Given the description of an element on the screen output the (x, y) to click on. 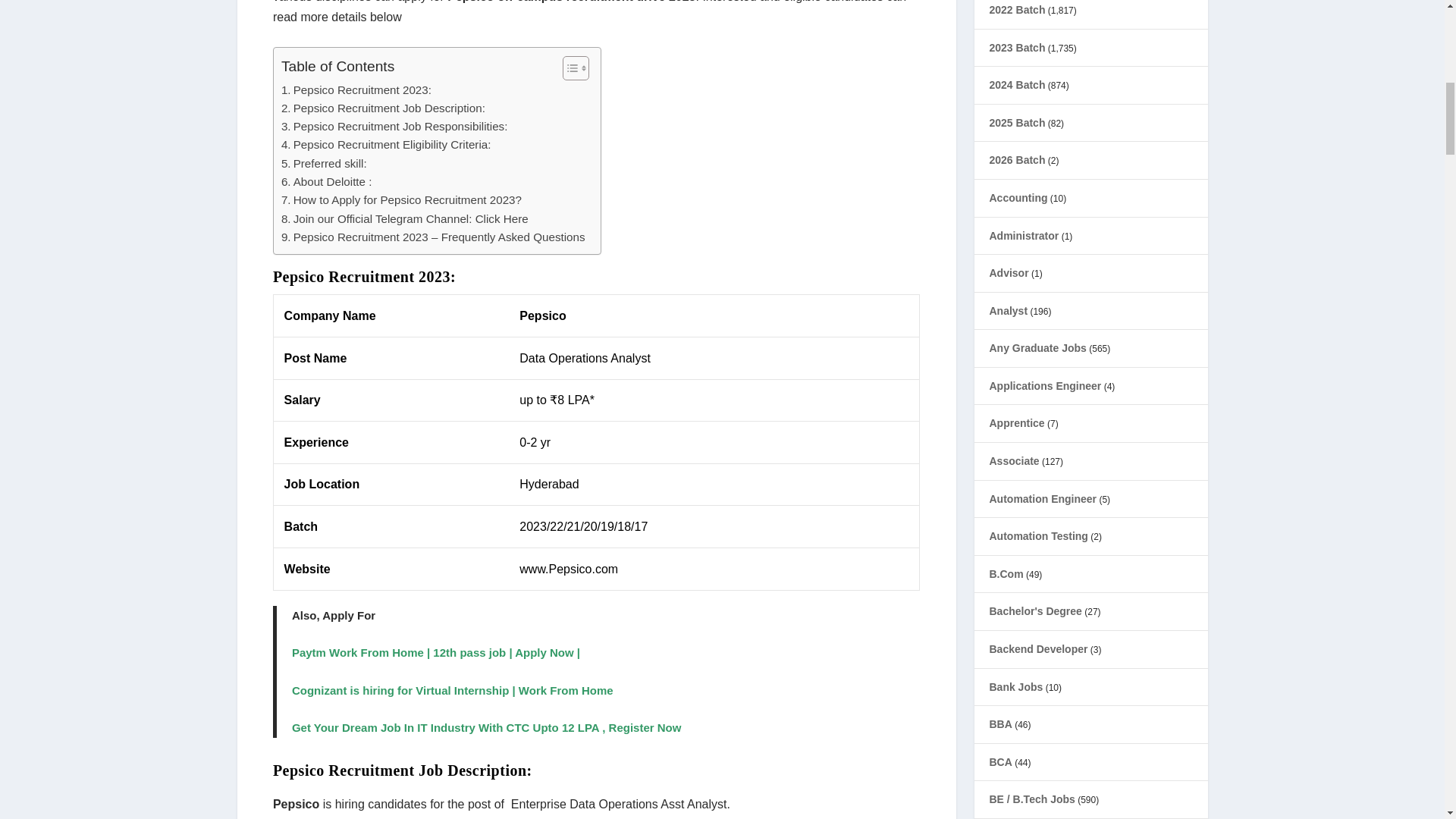
Preferred skill: (323, 163)
